Given the description of an element on the screen output the (x, y) to click on. 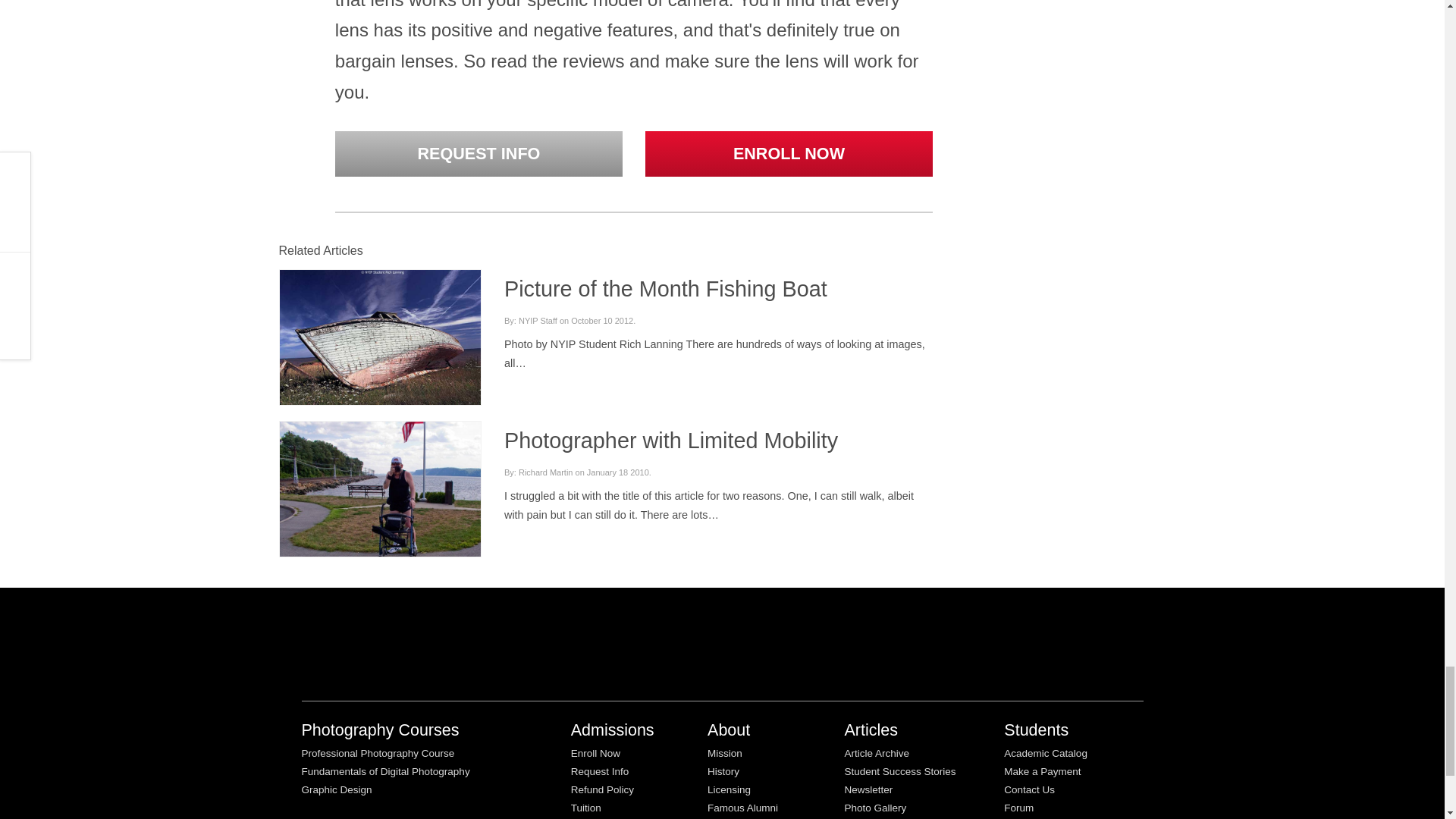
Picture of the Month Fishing Boat (665, 288)
Photographer with Limited Mobility (379, 502)
Photographer with Limited Mobility (379, 500)
Picture of the Month Fishing Boat (379, 337)
Picture of the Month Fishing Boat (379, 335)
Photographer with Limited Mobility (670, 440)
